Given the description of an element on the screen output the (x, y) to click on. 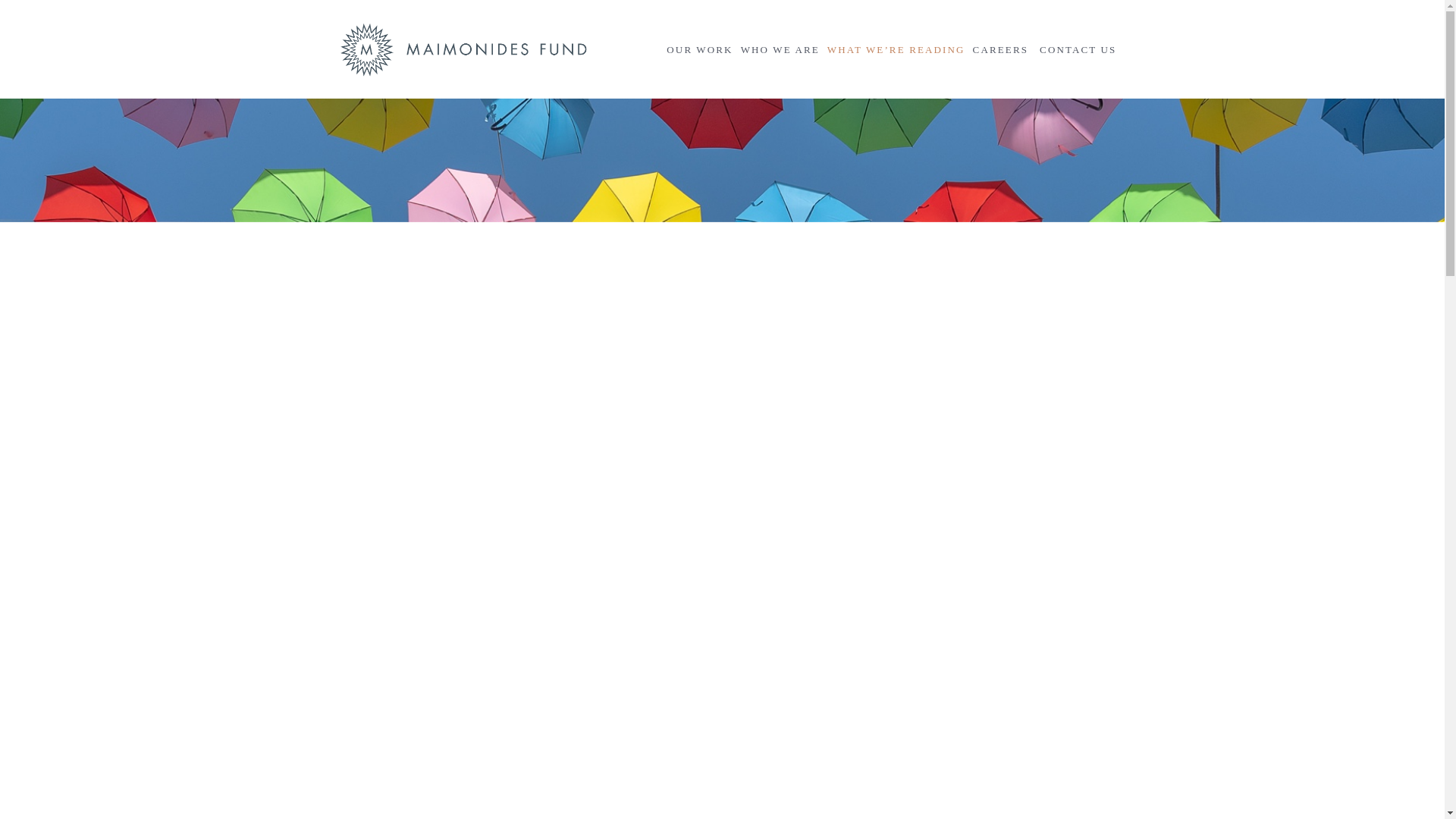
CONTACT US (1077, 49)
OUR WORK (699, 49)
WHO WE ARE (780, 49)
CAREERS (1000, 49)
